Given the description of an element on the screen output the (x, y) to click on. 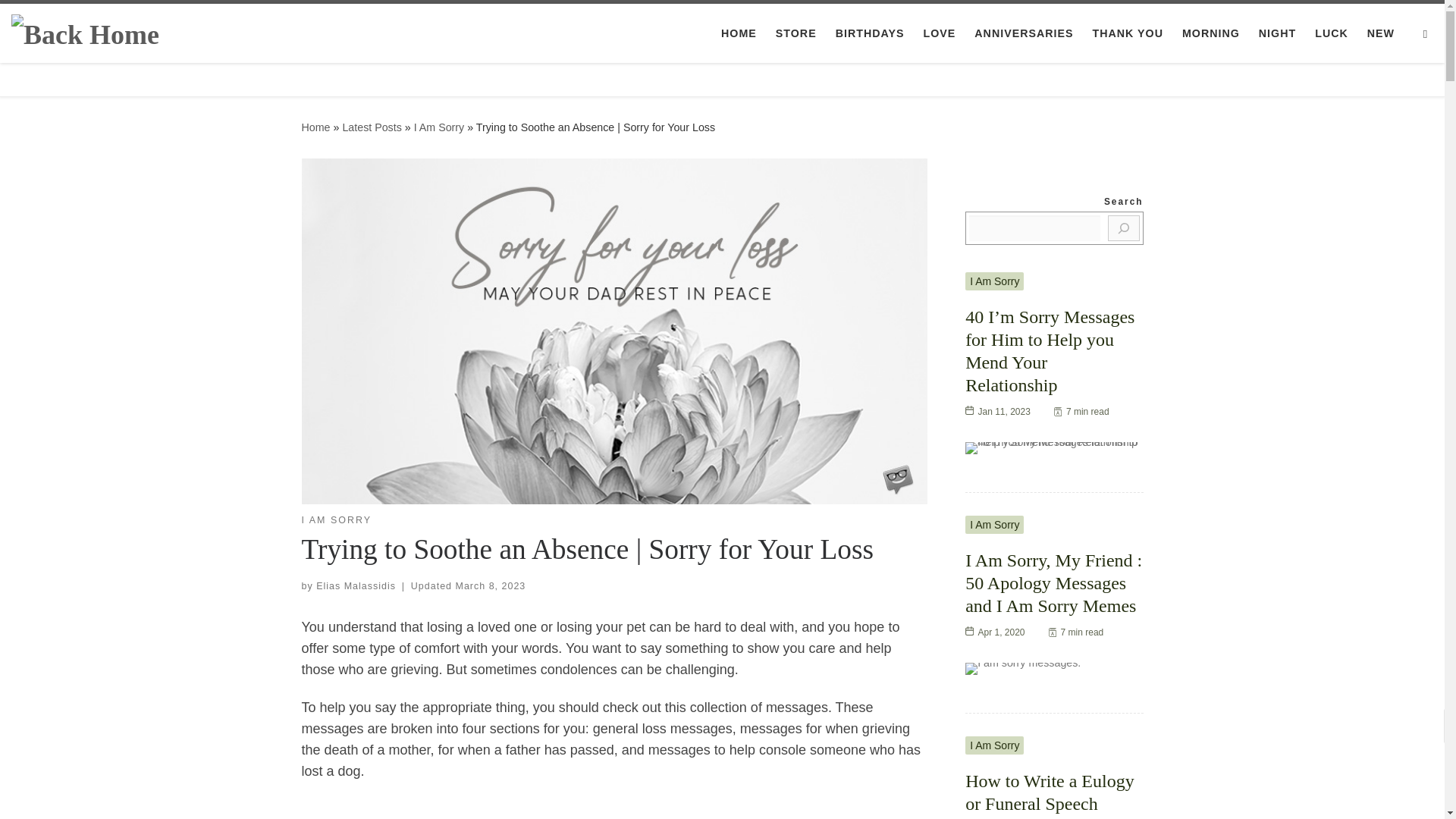
20:58 (489, 585)
Latest Posts (371, 127)
THANK YOU (1127, 33)
I Am Sorry (438, 127)
I Am Sorry (438, 127)
LOVE (938, 33)
Latest Posts (371, 127)
I AM SORRY (336, 520)
Birthday Wishes Expert (315, 127)
Skip to content (60, 20)
